Given the description of an element on the screen output the (x, y) to click on. 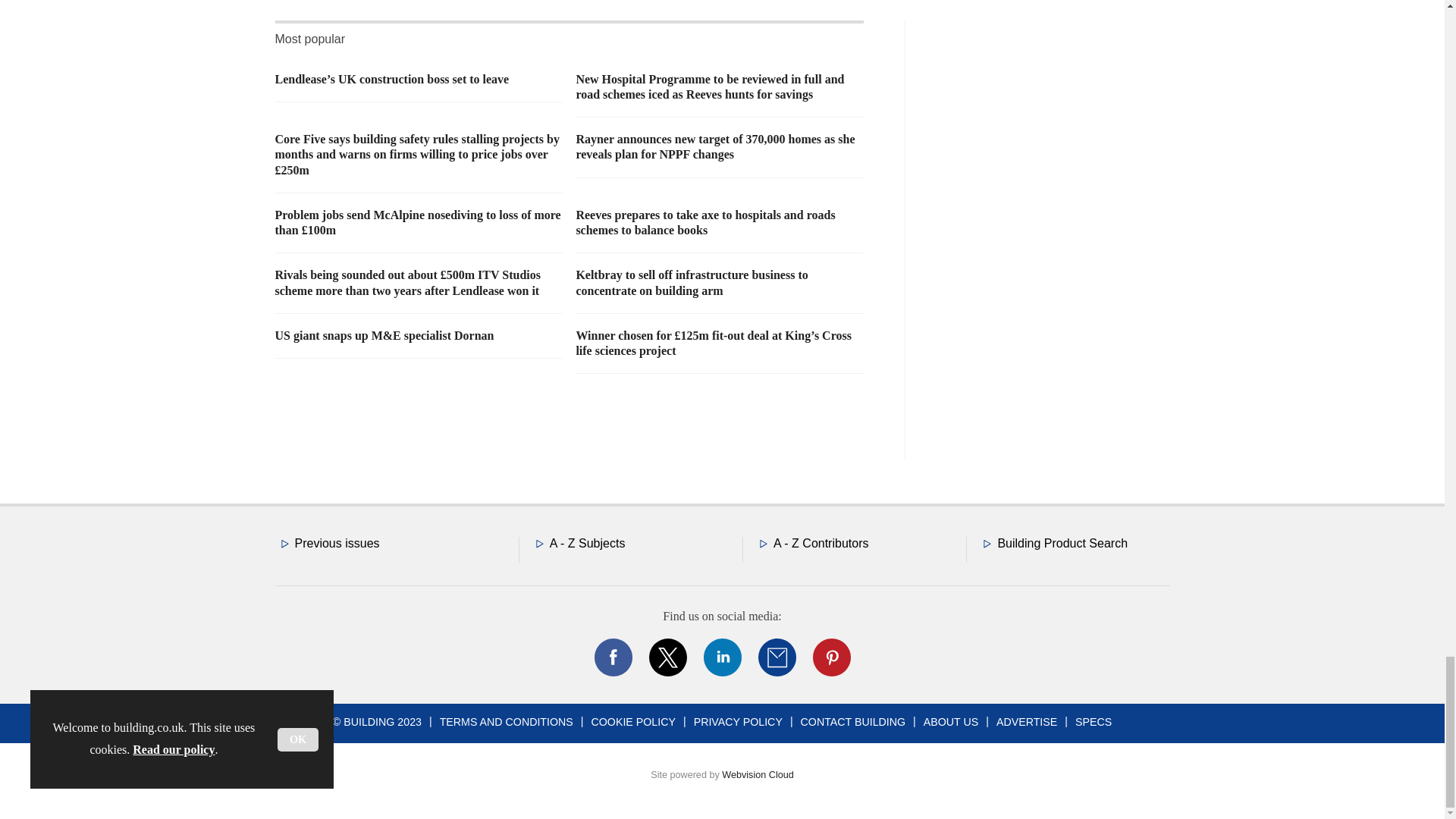
Connect with us on Pinterest (830, 657)
Connect with us on Linked in (721, 657)
Connect with us on Twitter (667, 657)
Email us (776, 657)
Connect with us on Facebook (611, 657)
